Given the description of an element on the screen output the (x, y) to click on. 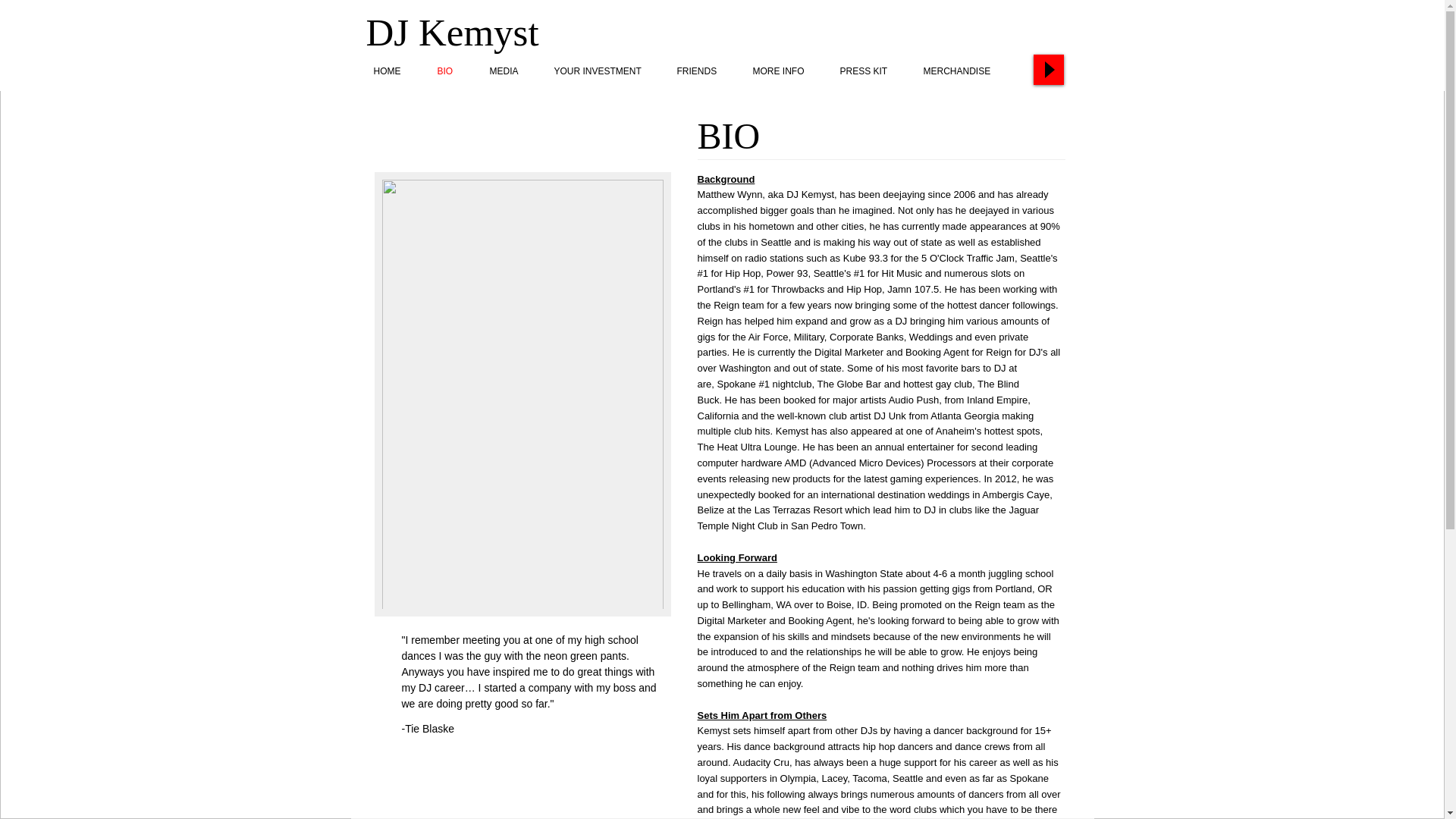
MORE INFO (787, 70)
HOME (397, 70)
BIO (455, 70)
MERCHANDISE (967, 70)
YOUR INVESTMENT (607, 70)
PRESS KIT (873, 70)
FRIENDS (706, 70)
MEDIA (514, 70)
